Given the description of an element on the screen output the (x, y) to click on. 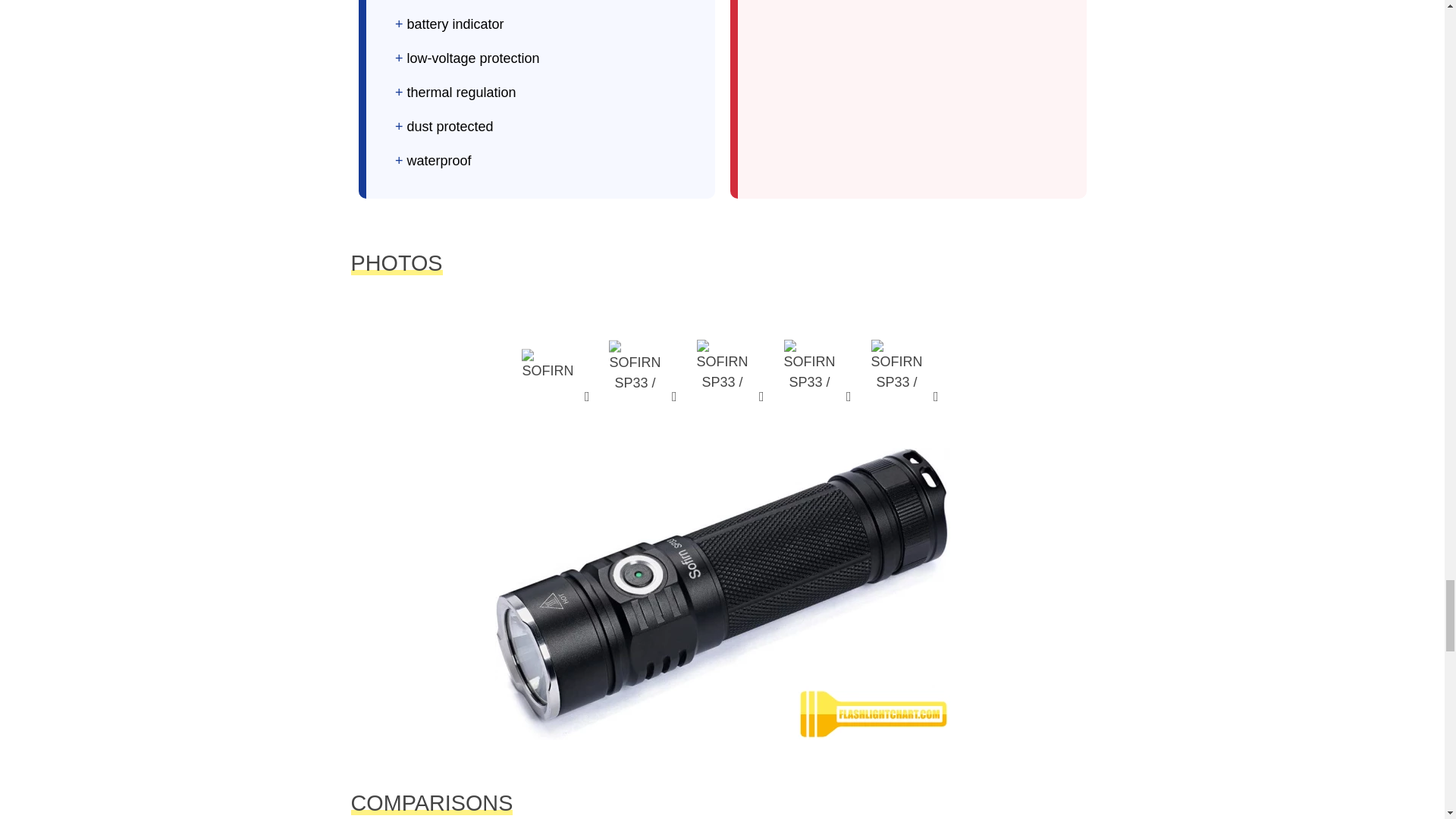
Click to view larger image (722, 365)
Click to view larger image (634, 365)
Click to view larger image (547, 365)
Click to view larger image (809, 365)
